Given the description of an element on the screen output the (x, y) to click on. 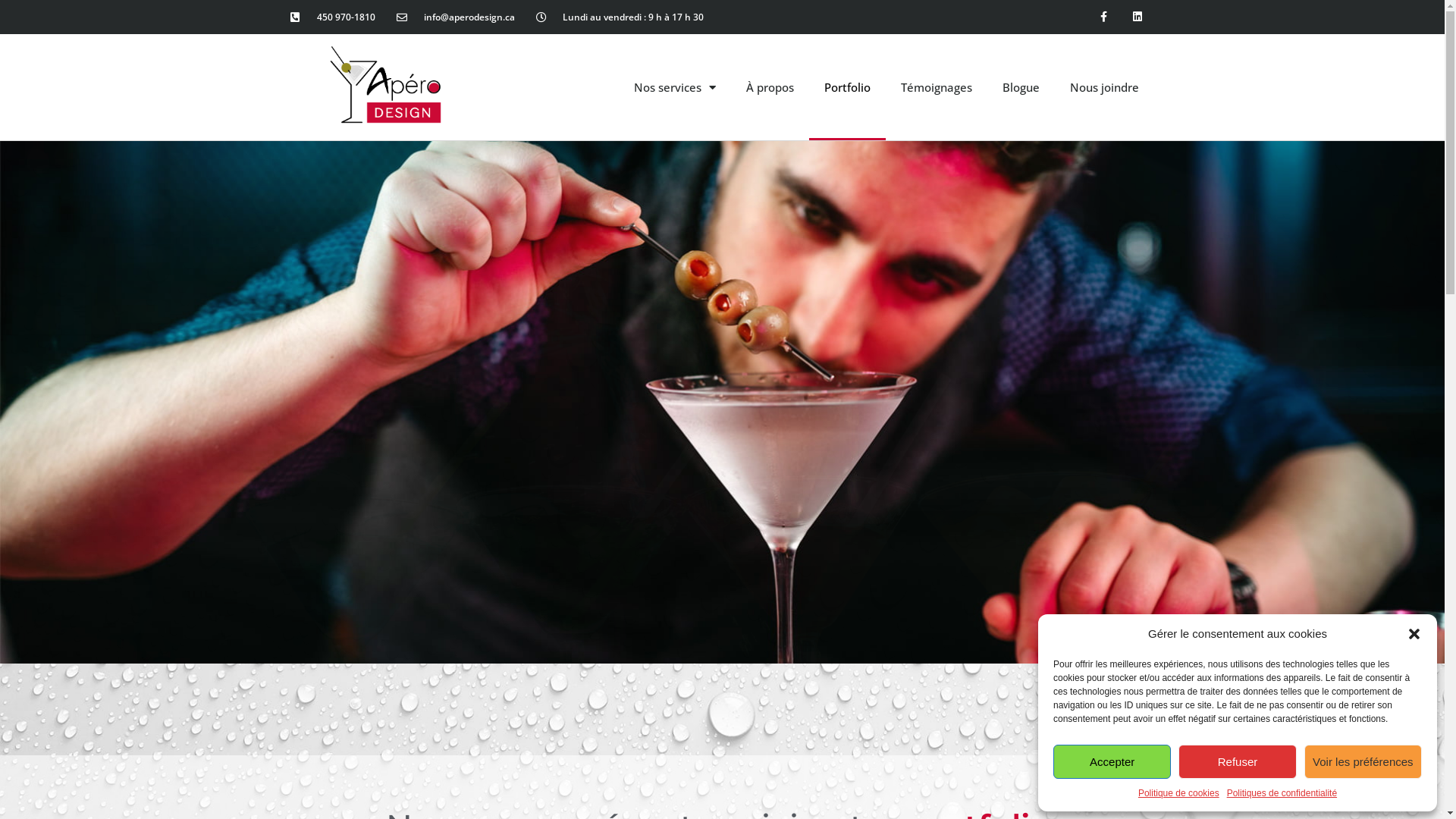
Blogue Element type: text (1020, 87)
450 970-1810 Element type: text (332, 17)
Politique de cookies Element type: text (1178, 793)
Accepter Element type: text (1111, 761)
Nos services Element type: text (674, 87)
Nous joindre Element type: text (1104, 87)
info@aperodesign.ca Element type: text (455, 17)
Refuser Element type: text (1236, 761)
Portfolio Element type: text (847, 87)
